Given the description of an element on the screen output the (x, y) to click on. 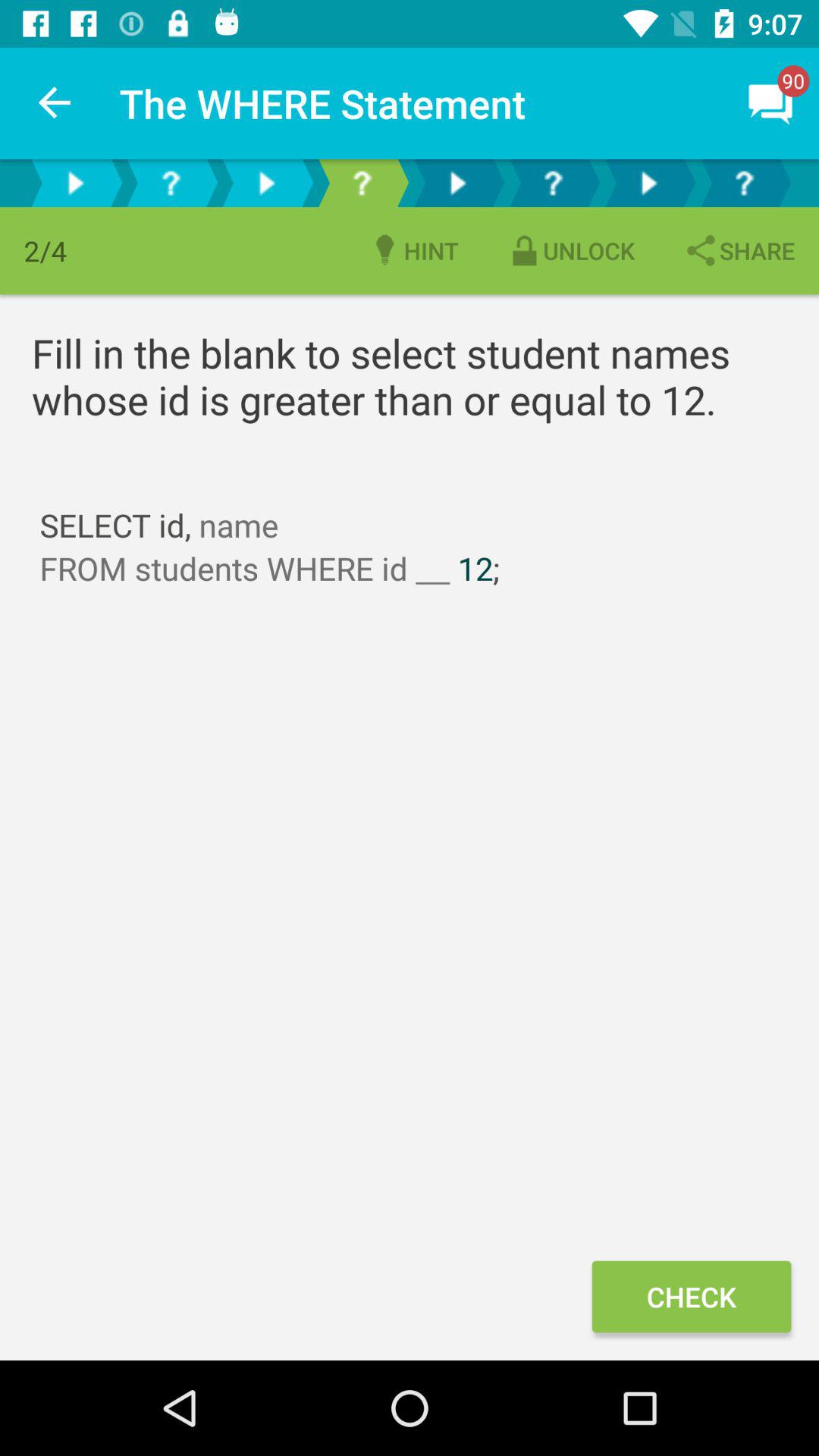
click play option (457, 183)
